Given the description of an element on the screen output the (x, y) to click on. 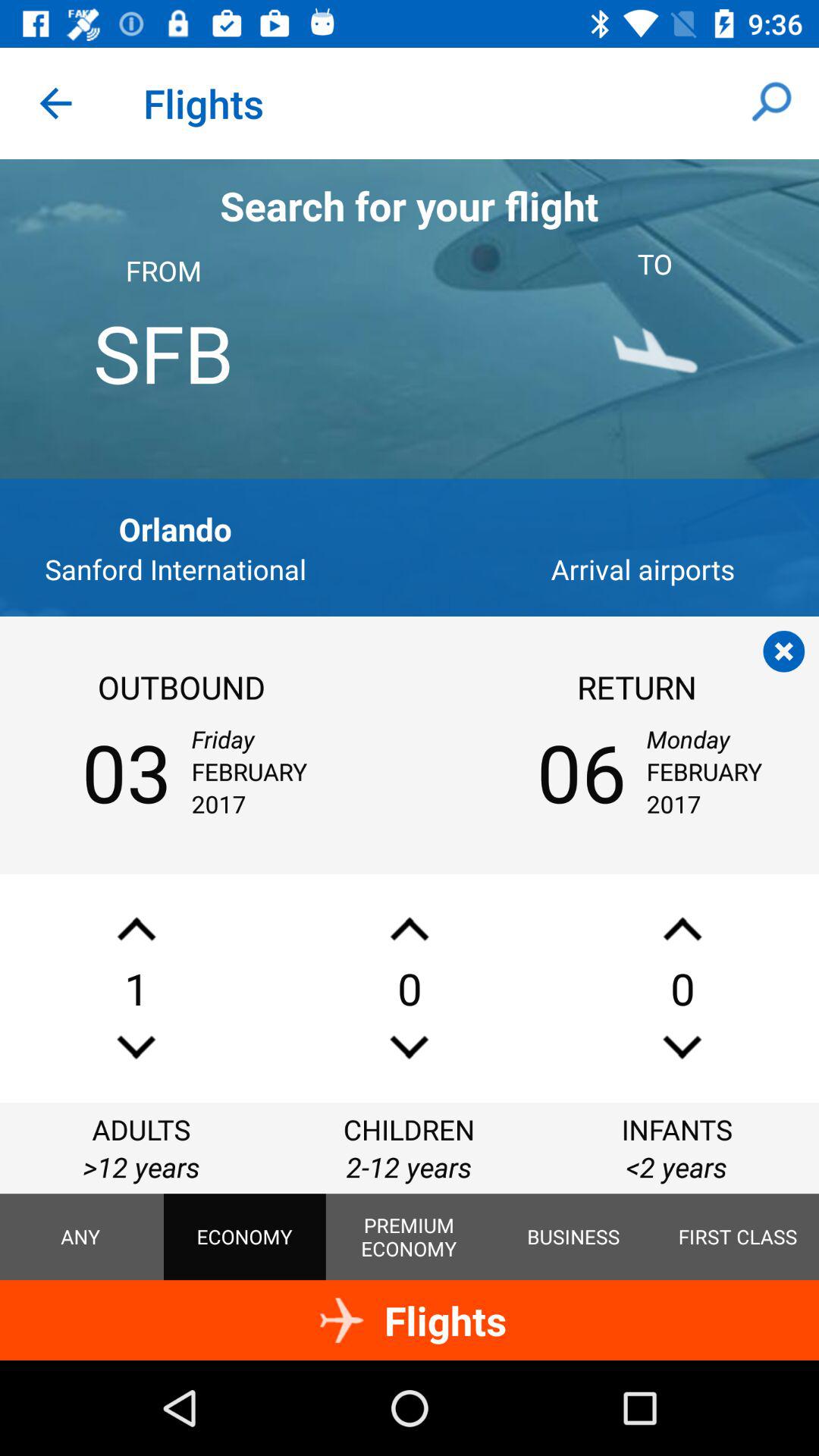
turn on the icon next to economy item (409, 1236)
